Given the description of an element on the screen output the (x, y) to click on. 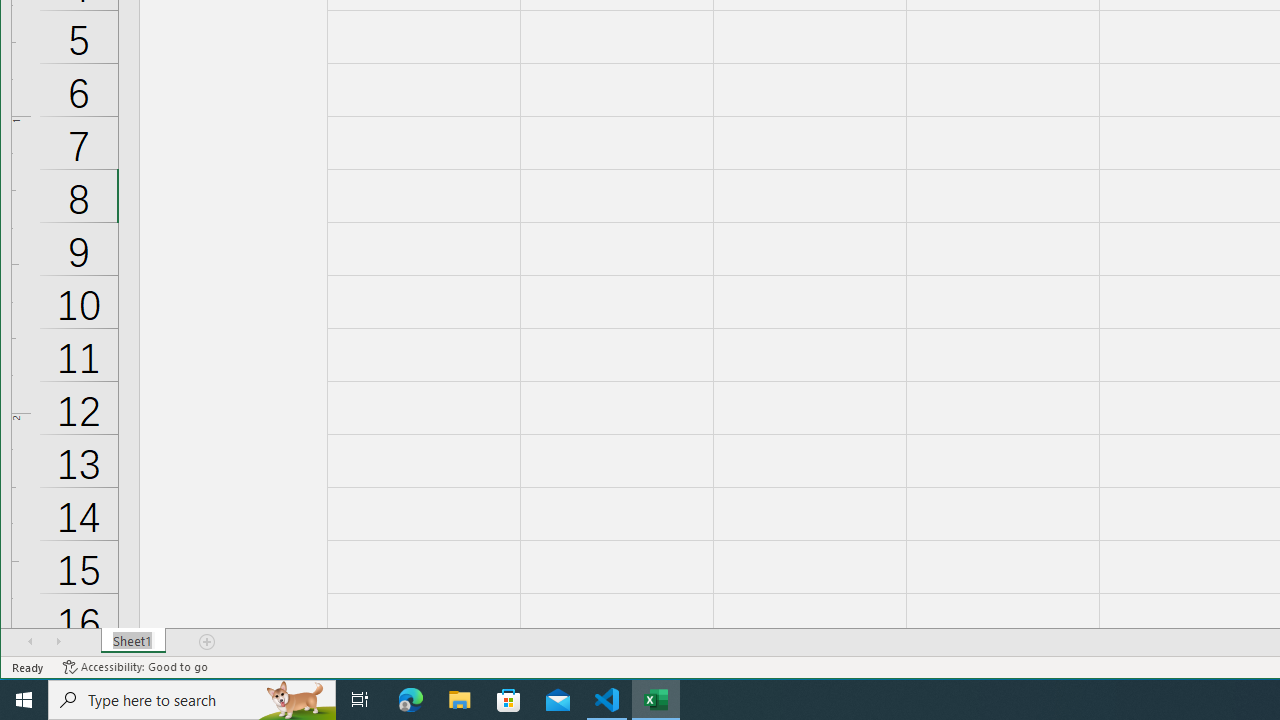
File Explorer (460, 699)
